Given the description of an element on the screen output the (x, y) to click on. 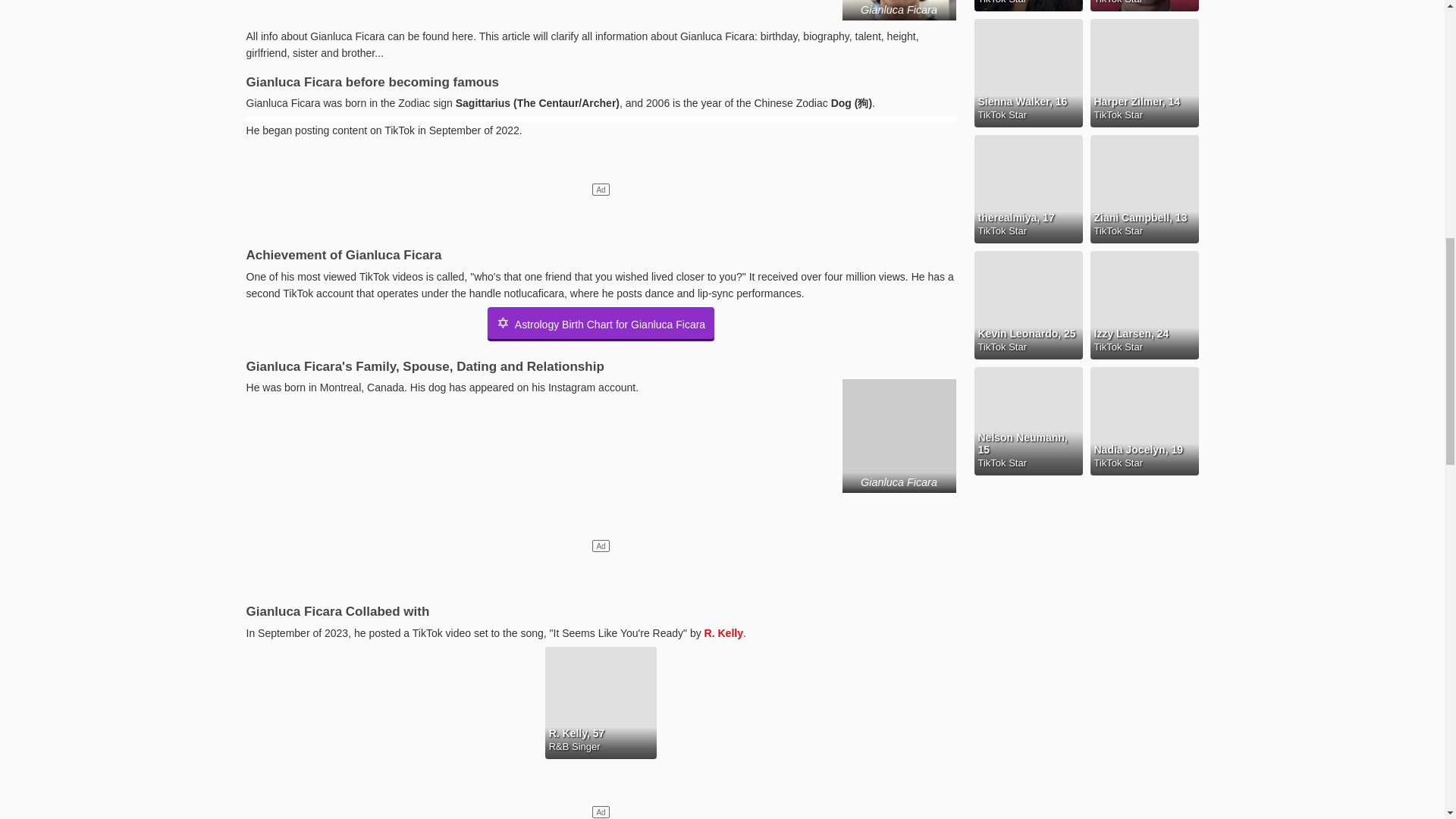
R. Kelly biography (723, 633)
